Given the description of an element on the screen output the (x, y) to click on. 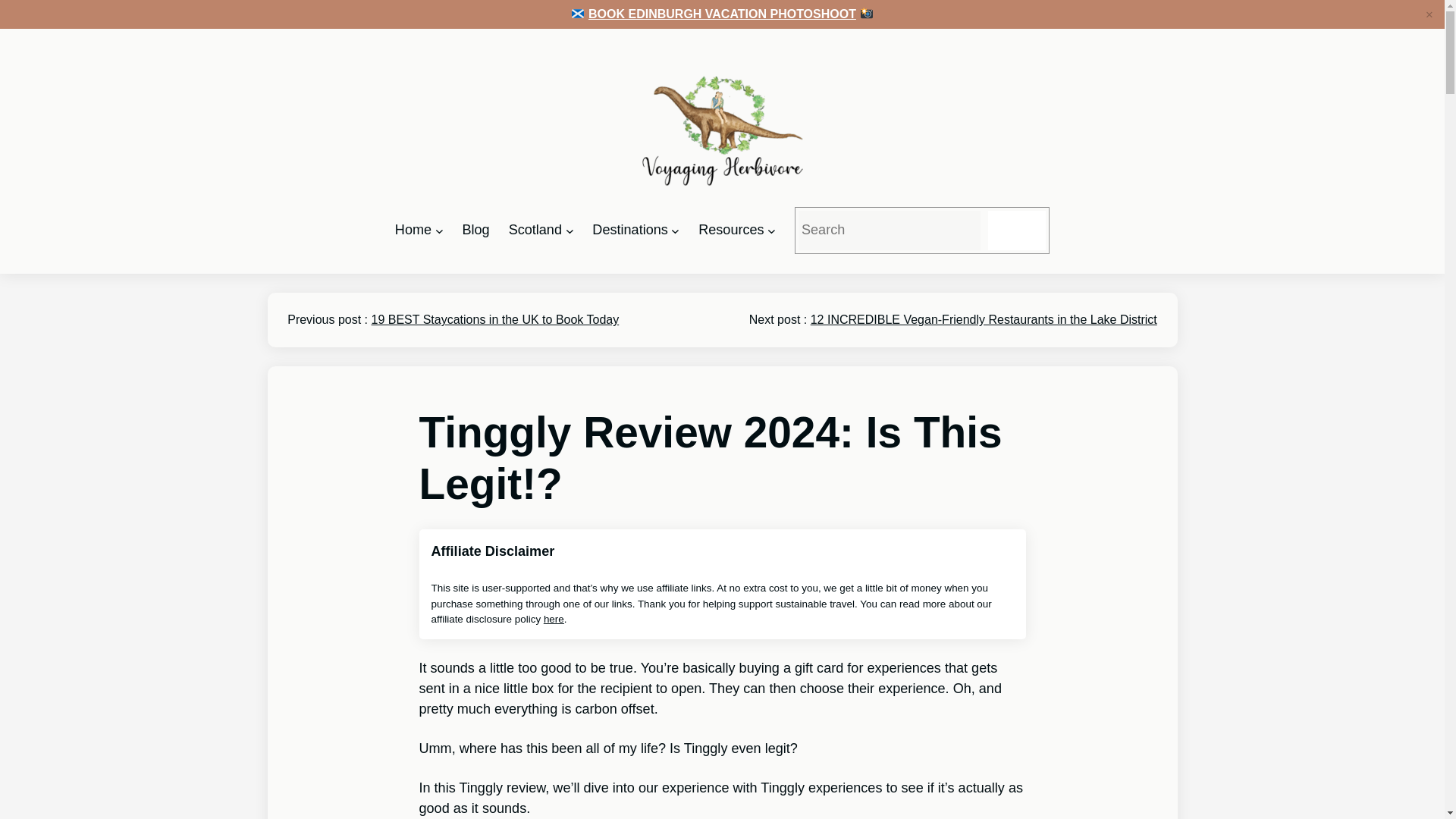
Scotland (535, 229)
Wildling Weddings Edinburgh Photographer: Top Banner (722, 13)
Blog (475, 229)
Home (412, 229)
BOOK EDINBURGH VACATION PHOTOSHOOT (722, 13)
Destinations (629, 229)
